Given the description of an element on the screen output the (x, y) to click on. 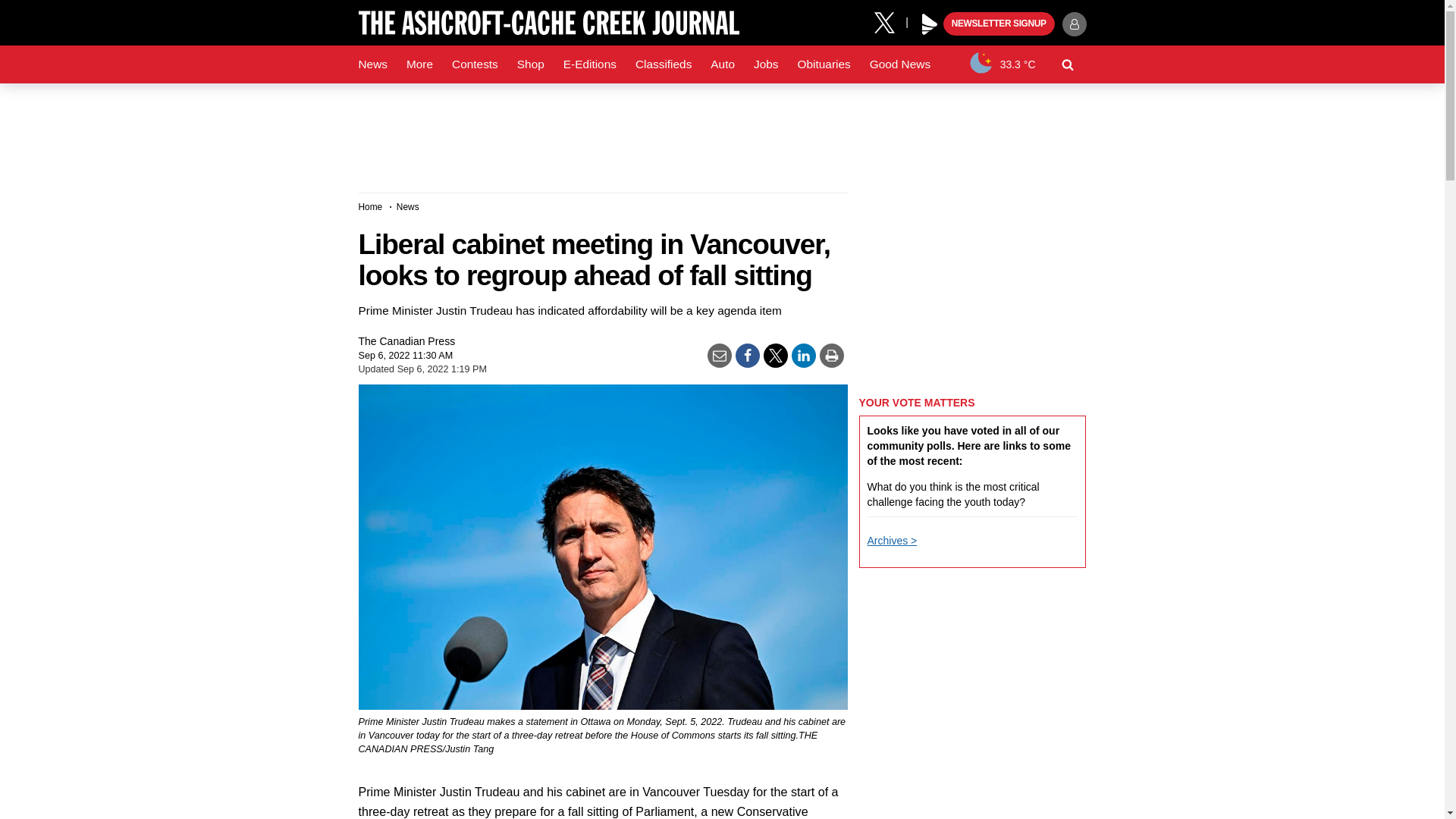
X (889, 21)
News (372, 64)
Black Press Media (929, 24)
Play (929, 24)
NEWSLETTER SIGNUP (998, 24)
